Given the description of an element on the screen output the (x, y) to click on. 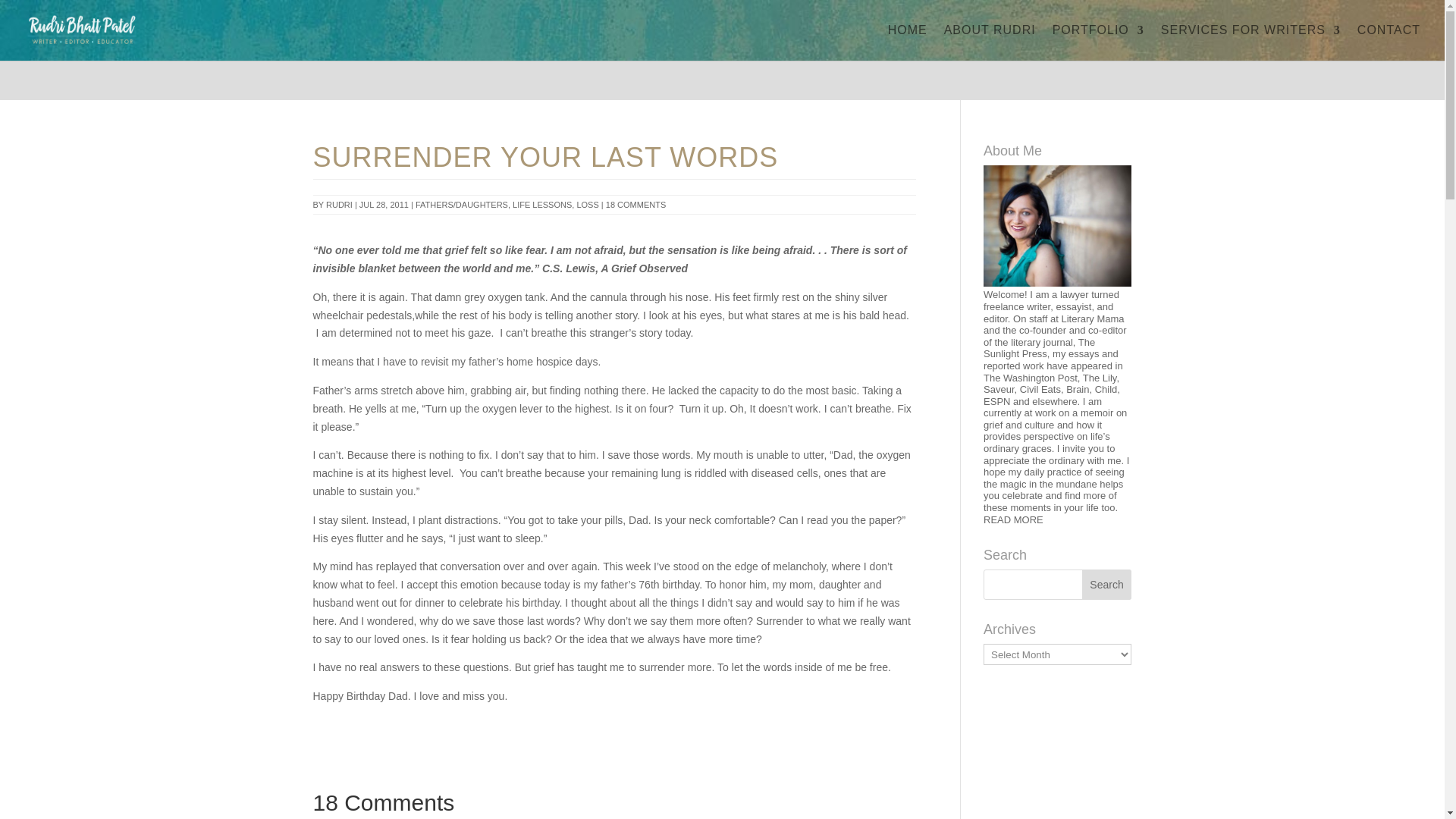
SERVICES FOR WRITERS (1250, 42)
ABOUT RUDRI (989, 42)
Posts by Rudri (339, 204)
LIFE LESSONS (542, 204)
Search (1106, 584)
CONTACT (1388, 42)
HOME (907, 42)
PORTFOLIO (1098, 42)
LOSS (587, 204)
Search (1106, 584)
RUDRI (339, 204)
18 COMMENTS (635, 204)
READ MORE (1013, 519)
